Given the description of an element on the screen output the (x, y) to click on. 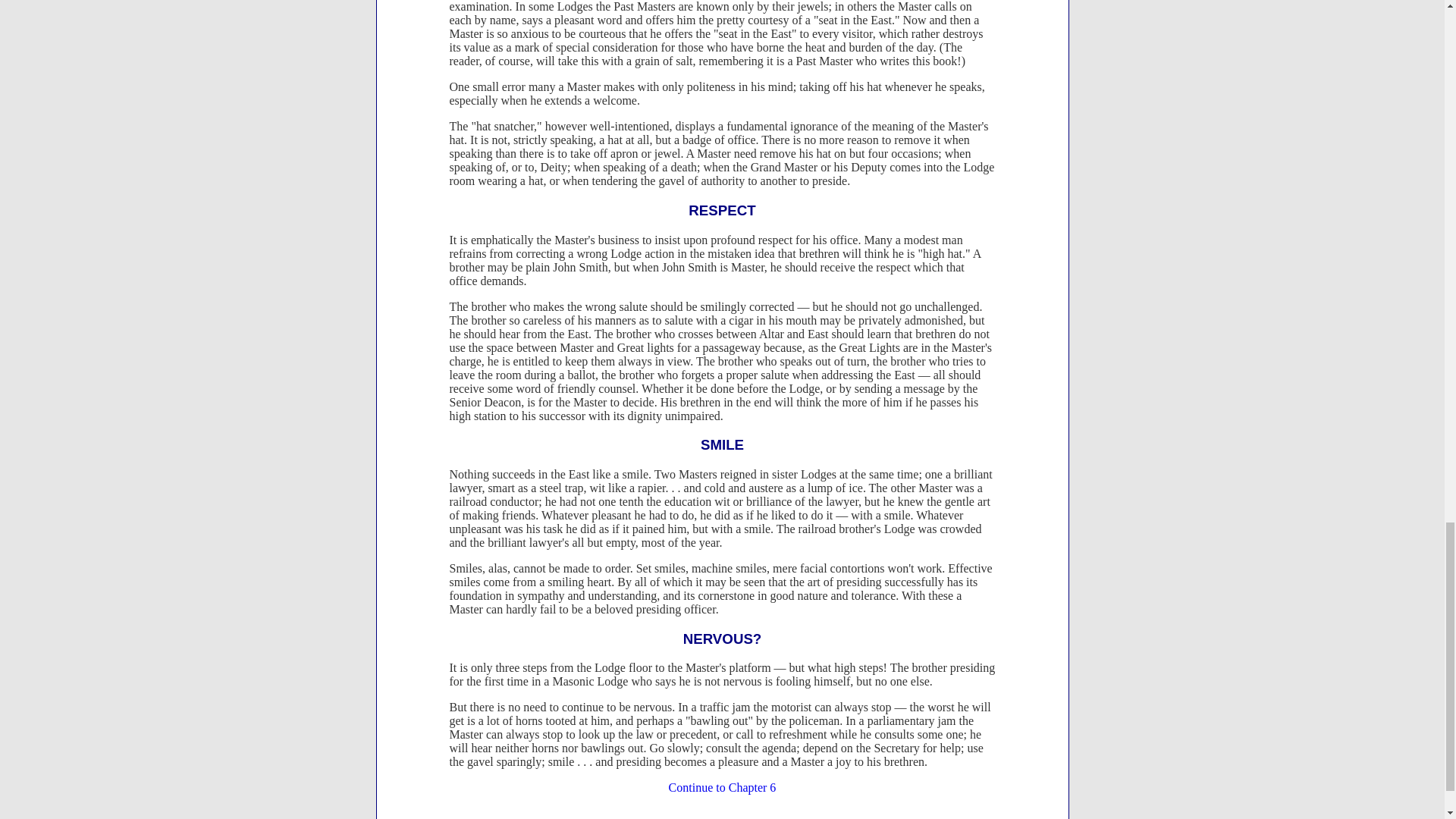
Continue to Chapter 6 (722, 787)
